Given the description of an element on the screen output the (x, y) to click on. 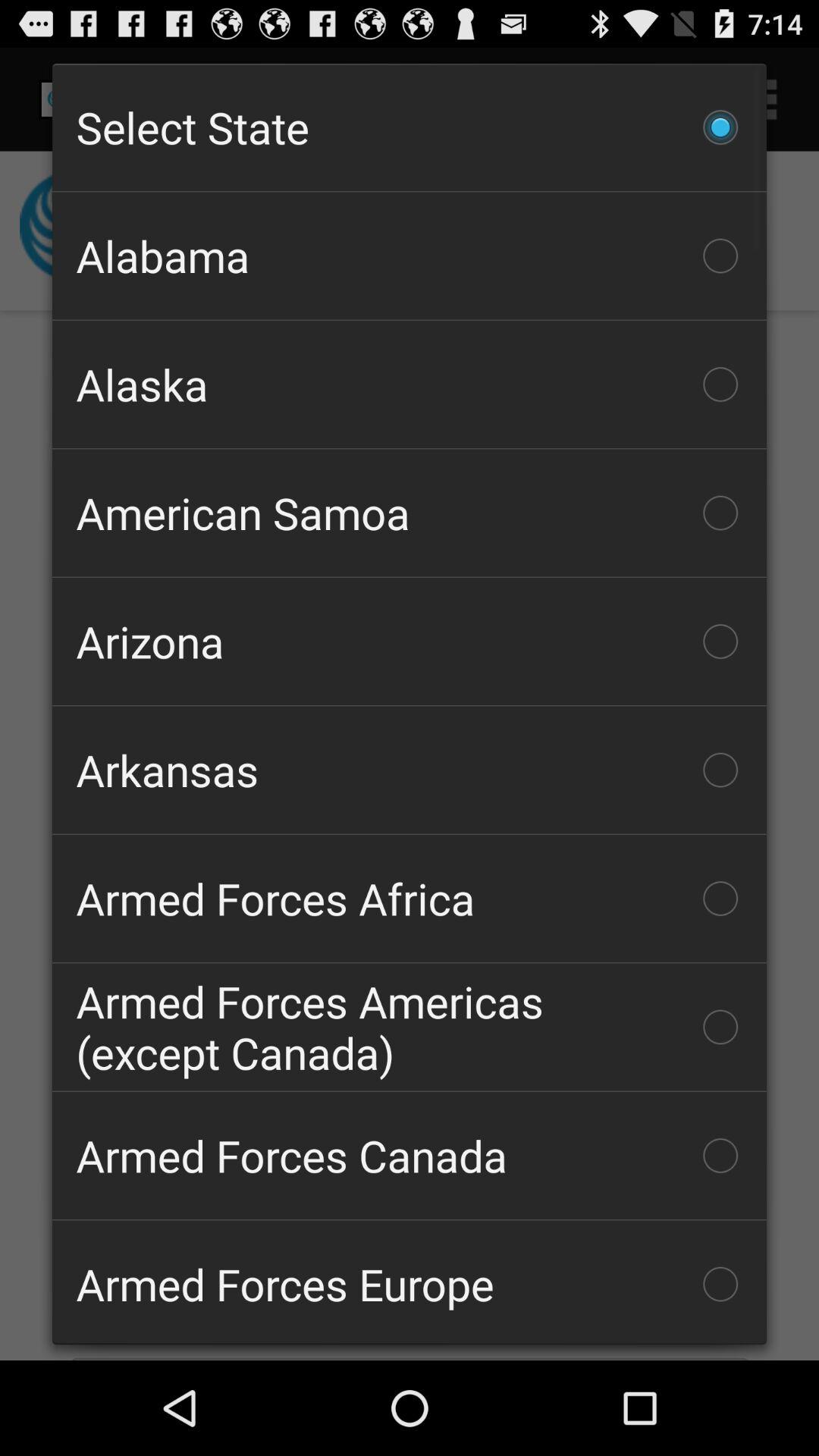
launch the select state checkbox (409, 127)
